Given the description of an element on the screen output the (x, y) to click on. 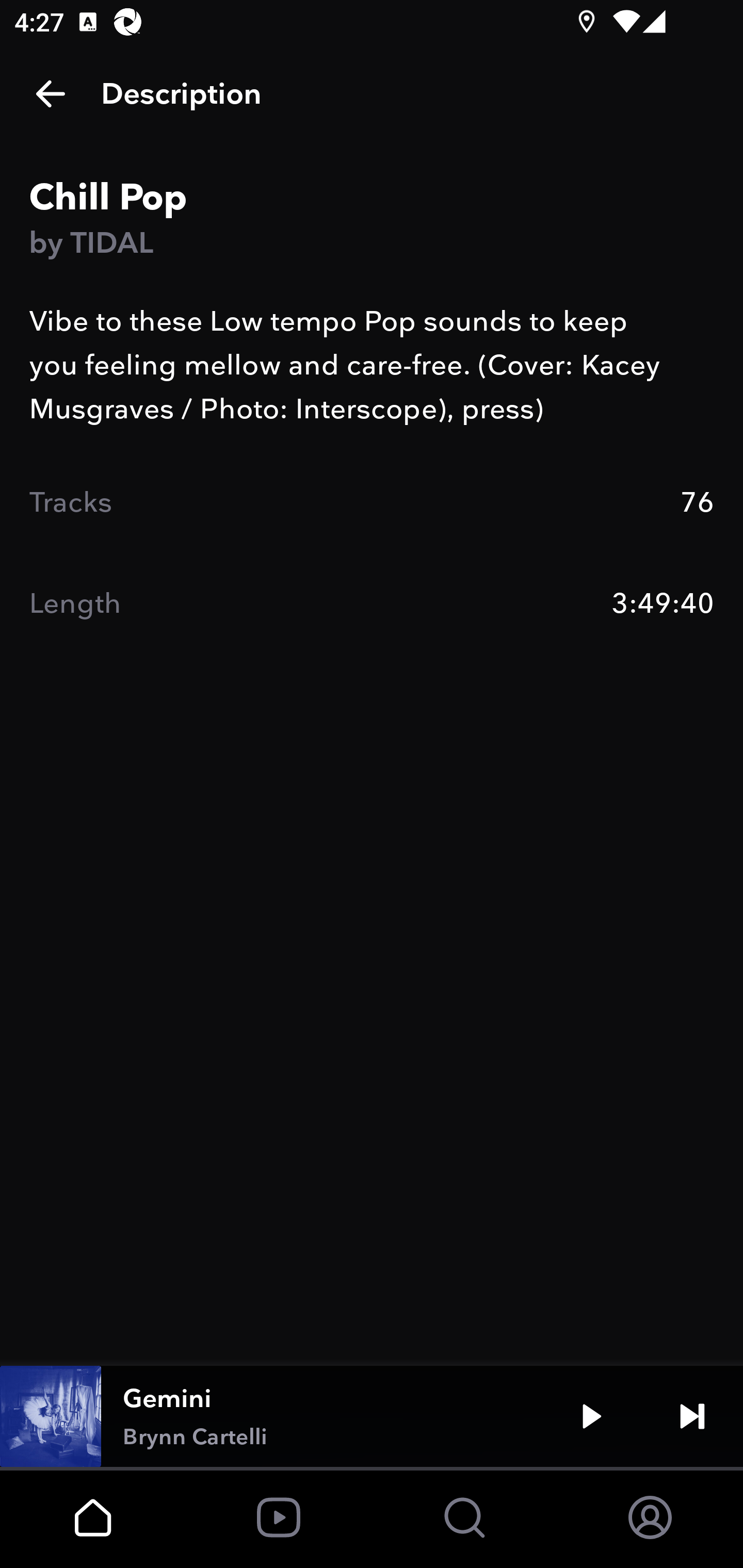
Back (50, 93)
Gemini Brynn Cartelli Play (371, 1416)
Play (590, 1416)
